Given the description of an element on the screen output the (x, y) to click on. 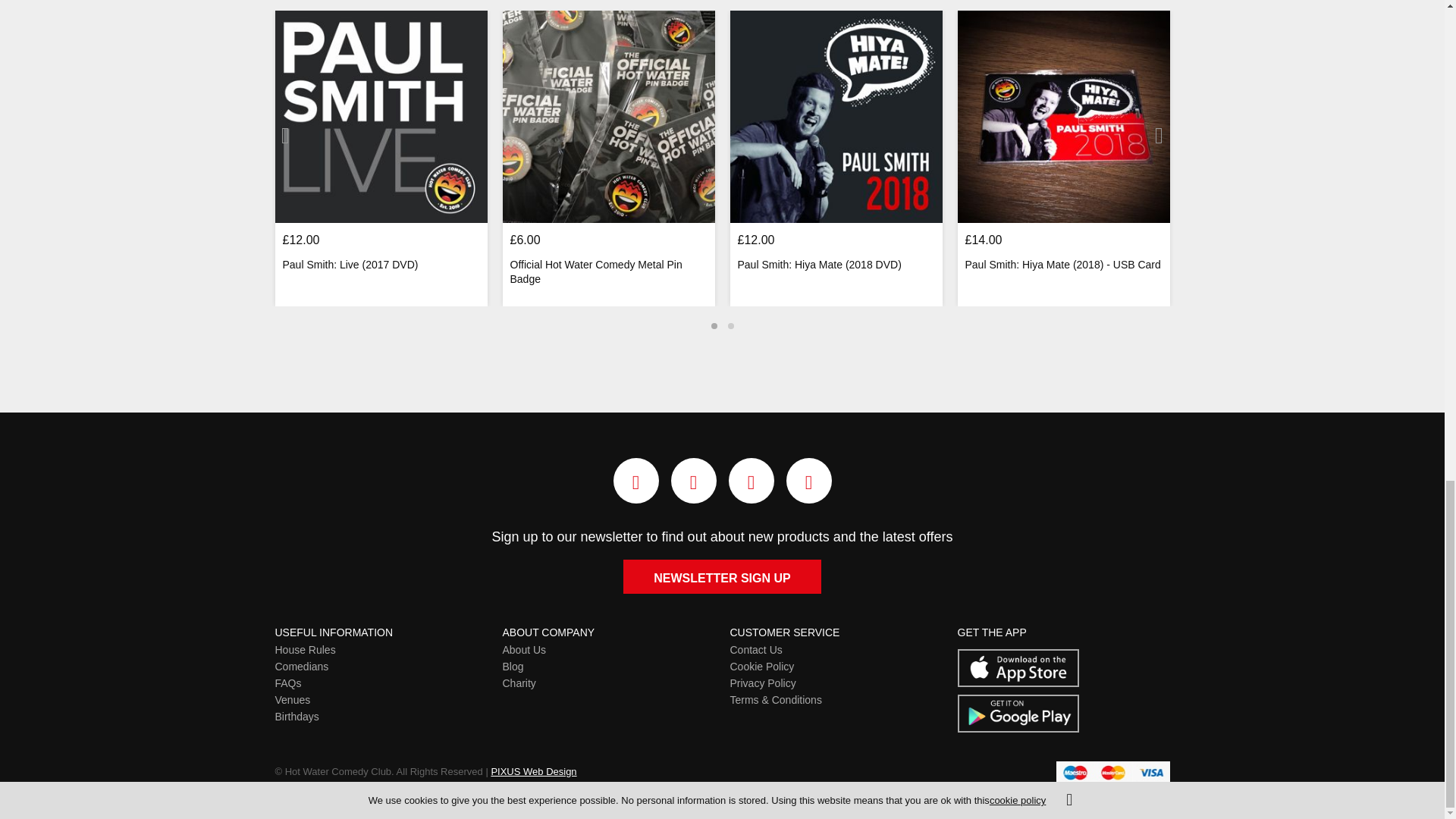
Official Hot Water Comedy Metal Pin Badge (608, 116)
Previous (284, 135)
Official Hot Water Comedy Metal Pin Badge (607, 272)
